Given the description of an element on the screen output the (x, y) to click on. 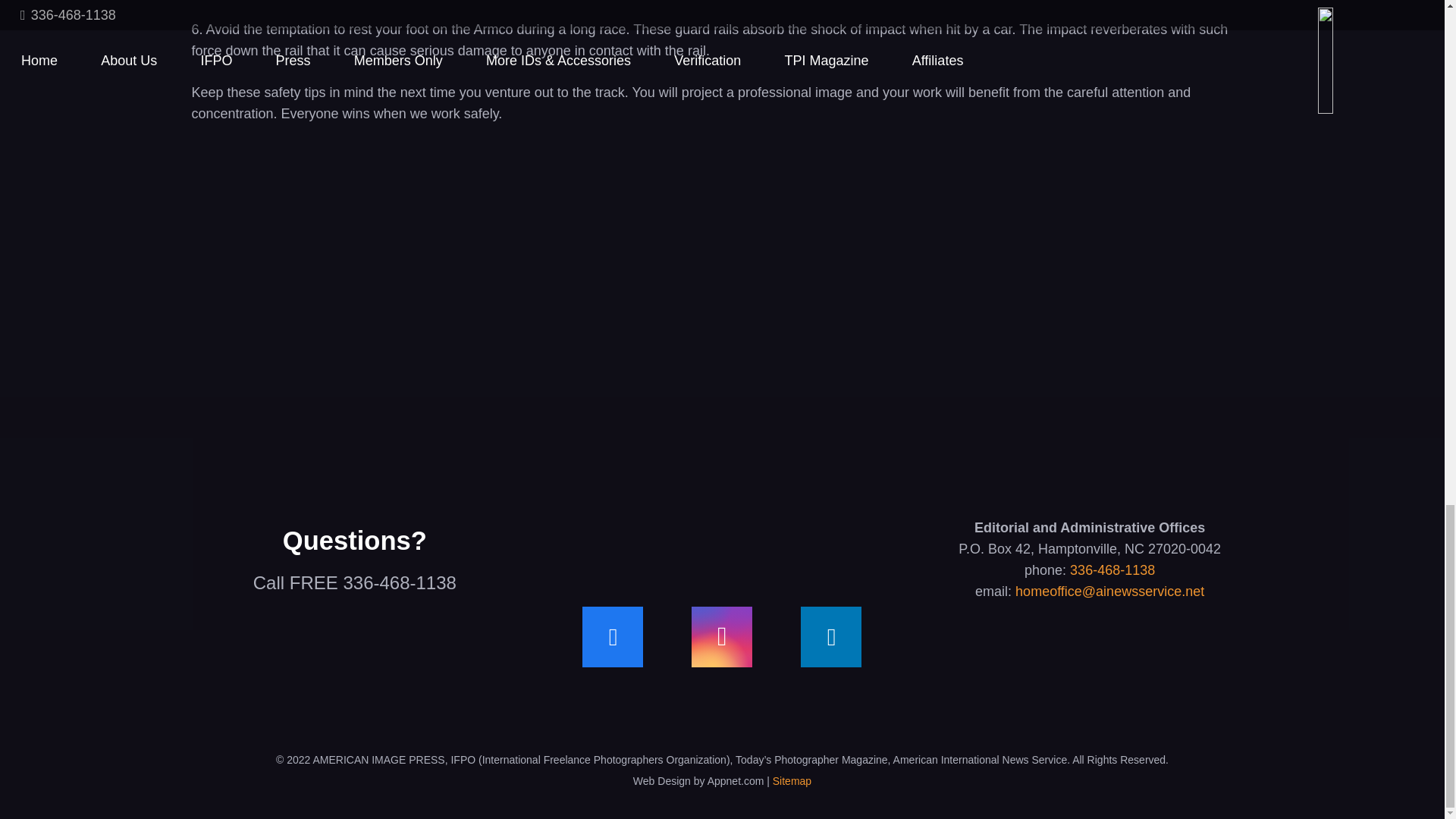
LinkedIn (830, 636)
Facebook (612, 636)
Instagram (721, 636)
